Given the description of an element on the screen output the (x, y) to click on. 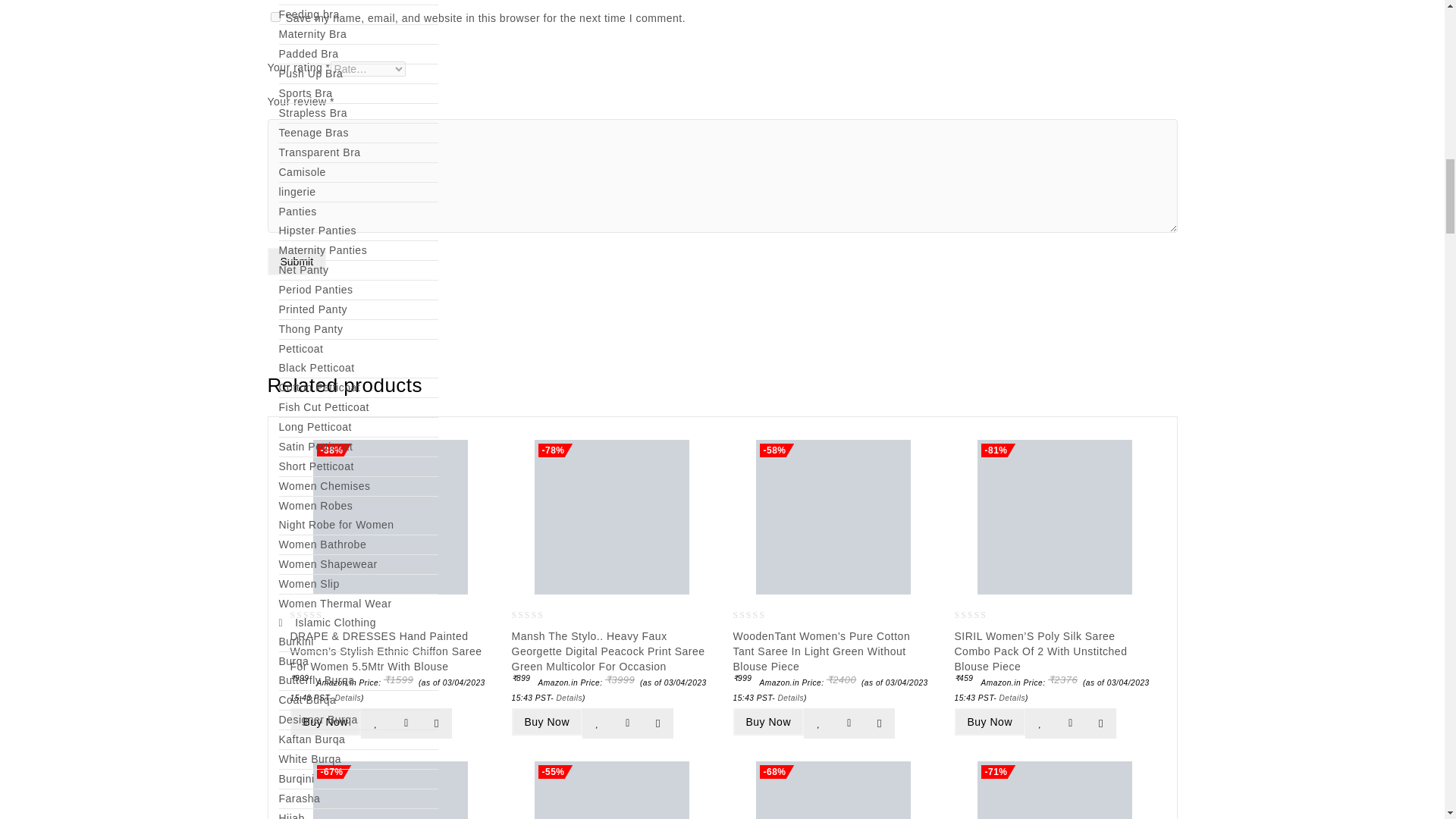
Not yet rated (318, 615)
Not yet rated (540, 615)
Not yet rated (761, 615)
yes (274, 17)
Not yet rated (982, 615)
Submit (296, 261)
